Given the description of an element on the screen output the (x, y) to click on. 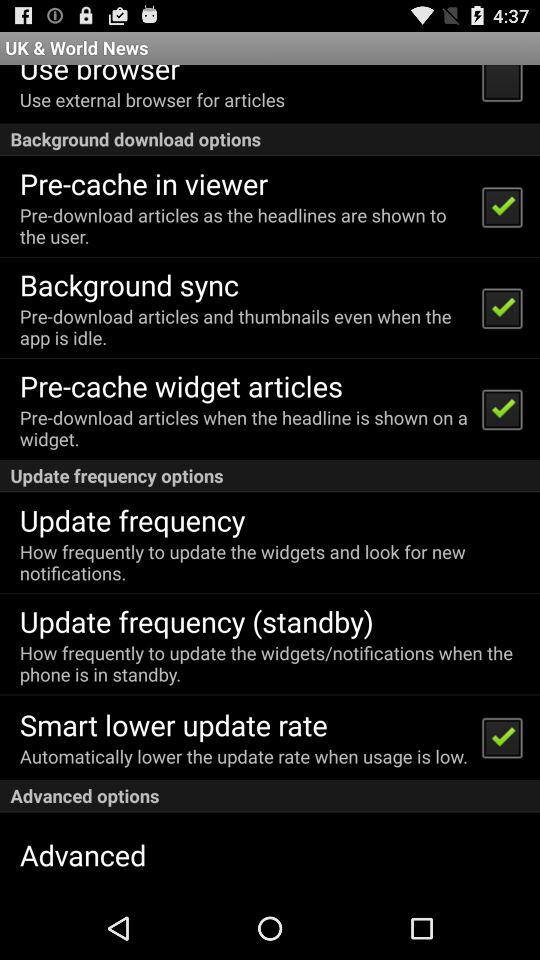
click background sync item (128, 284)
